Given the description of an element on the screen output the (x, y) to click on. 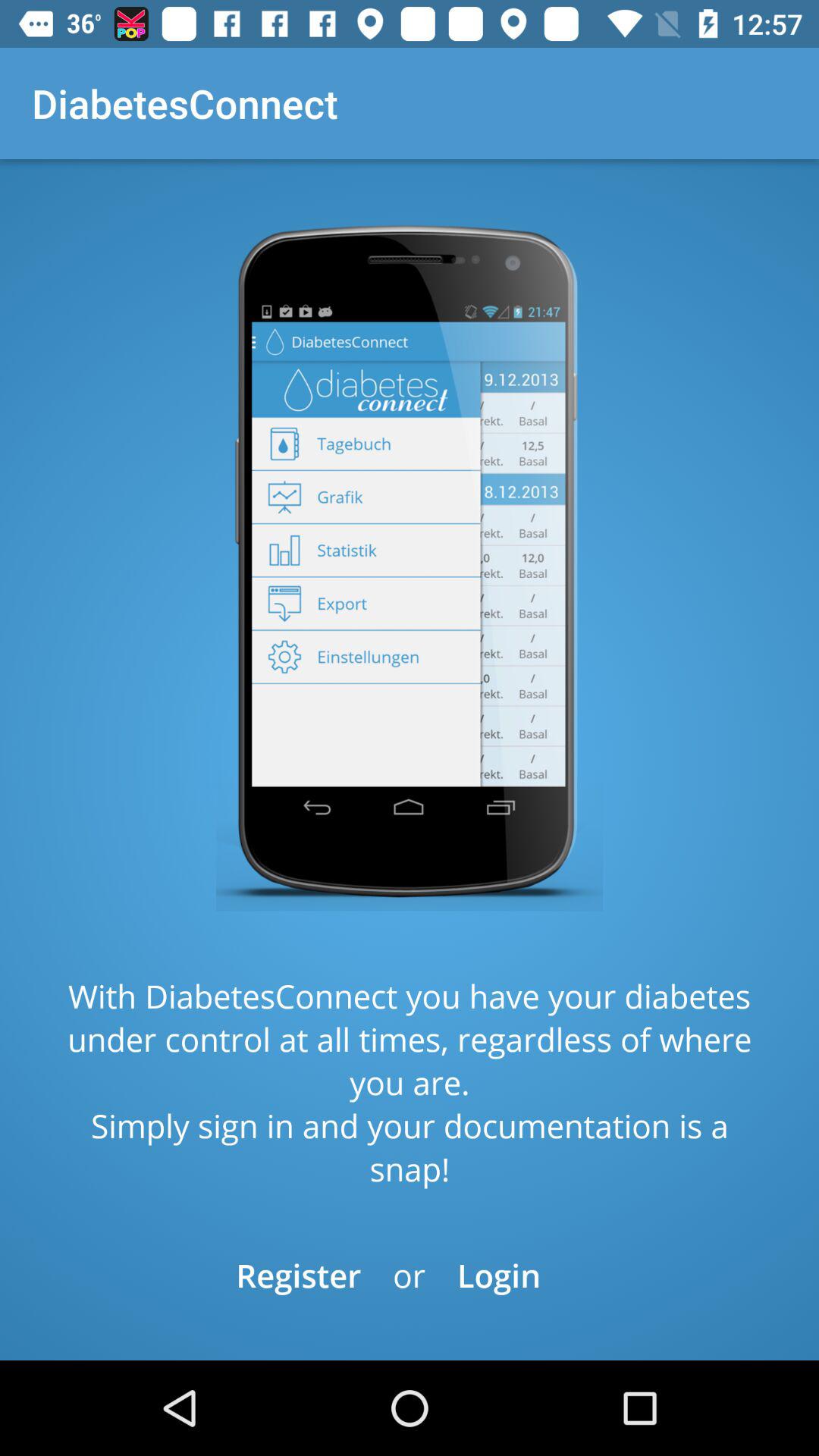
scroll to register item (298, 1275)
